Given the description of an element on the screen output the (x, y) to click on. 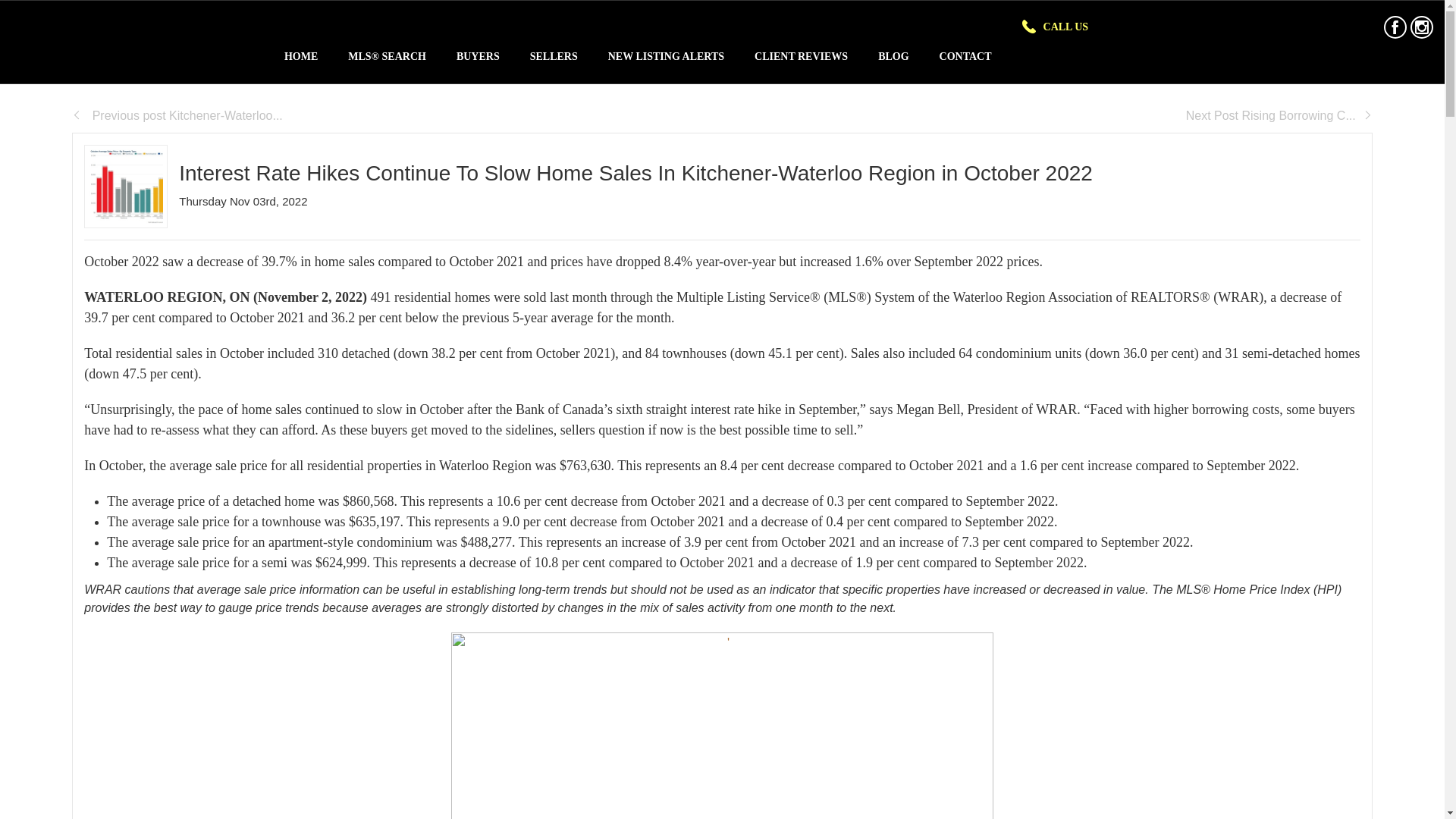
HOME (301, 56)
BLOG (893, 56)
CONTACT (965, 56)
Home (301, 56)
SELLERS (553, 56)
NEW LISTING ALERTS (665, 56)
Previous post Kitchener-Waterloo... (176, 115)
Facebook (1395, 26)
BUYERS (478, 56)
Next Post Rising Borrowing C... (1279, 115)
